Given the description of an element on the screen output the (x, y) to click on. 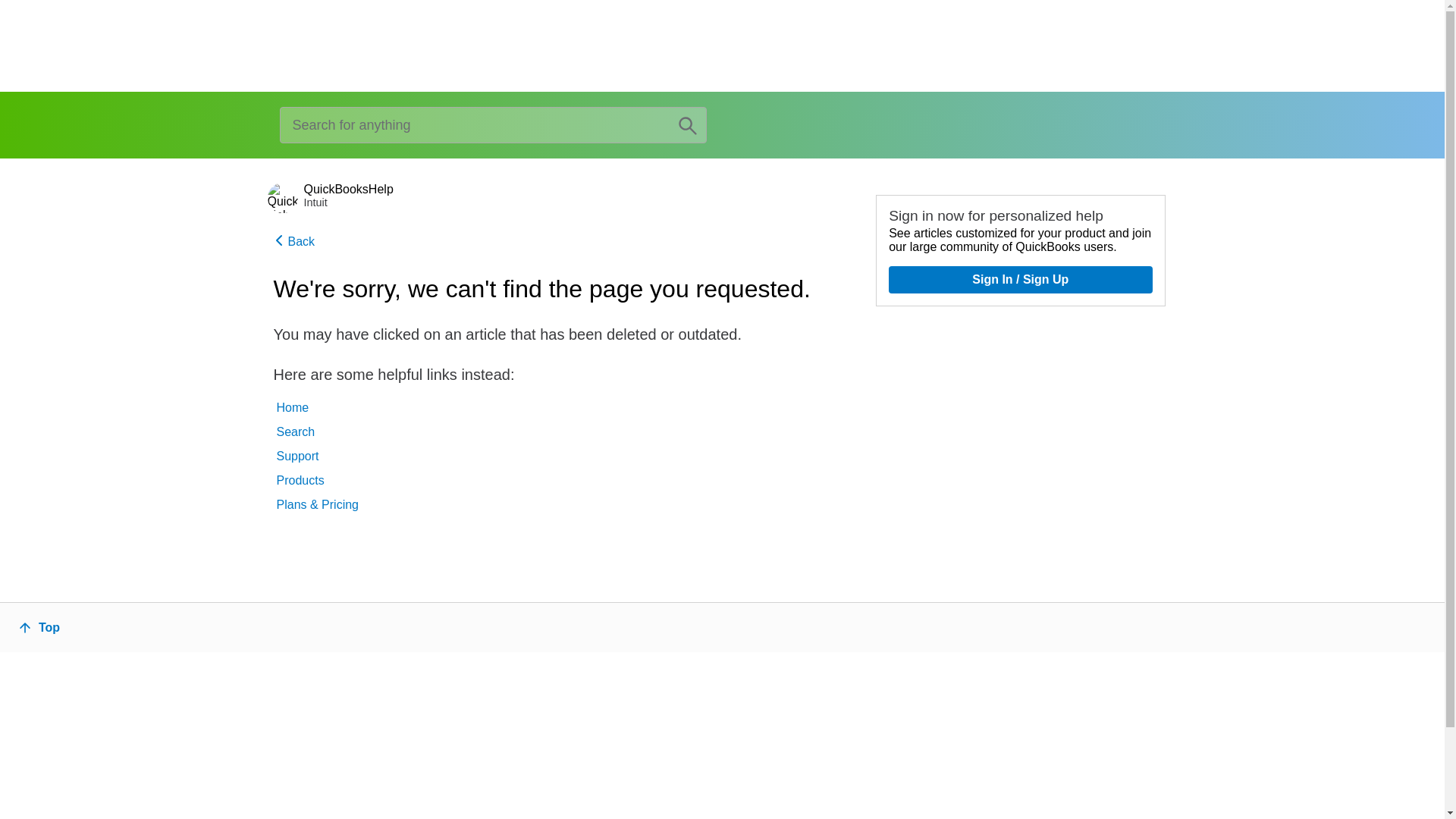
Search (317, 432)
Back (556, 240)
Products (317, 480)
Top (42, 627)
Support (317, 456)
Home (317, 407)
